Given the description of an element on the screen output the (x, y) to click on. 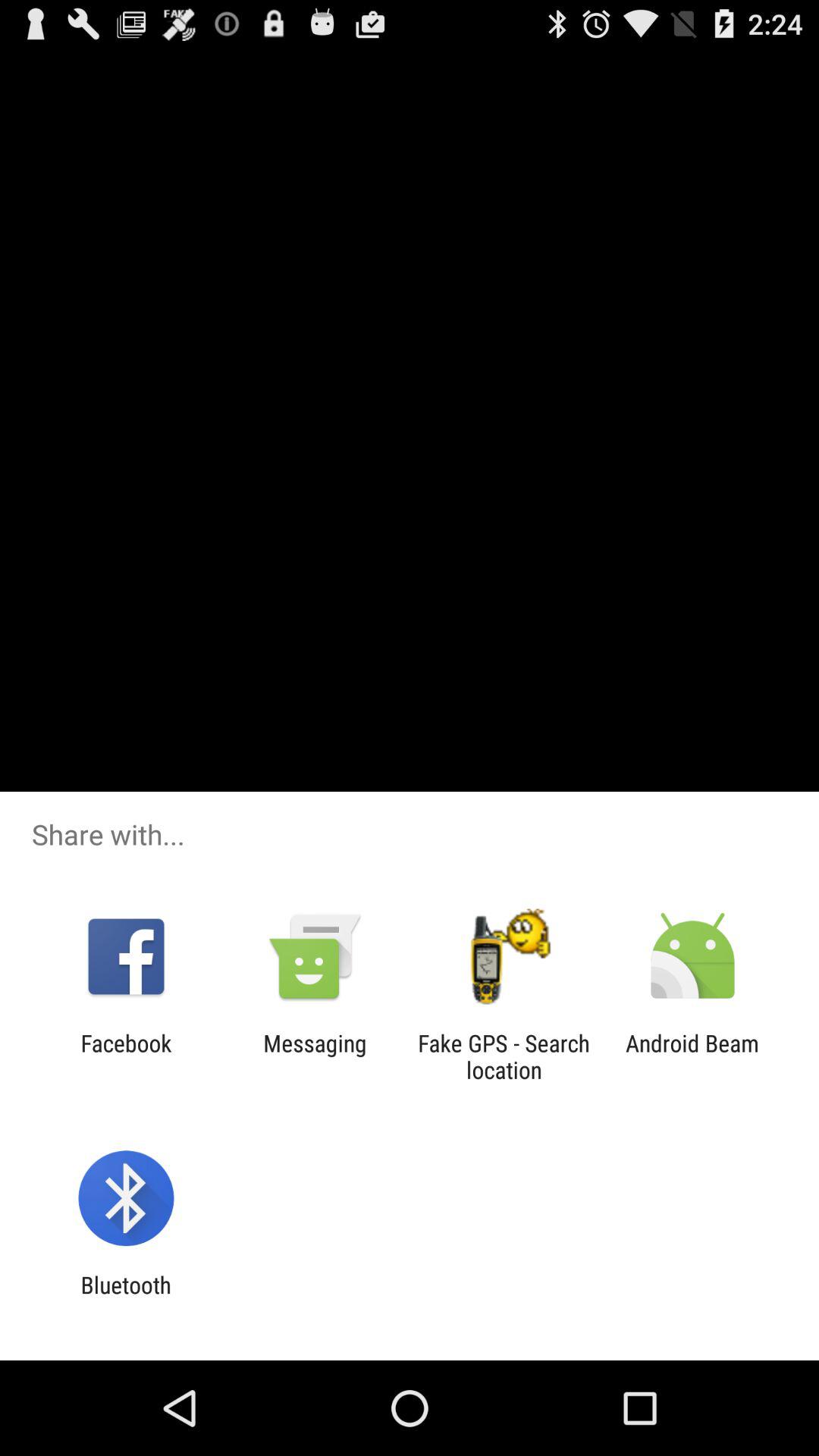
jump until bluetooth (125, 1298)
